Given the description of an element on the screen output the (x, y) to click on. 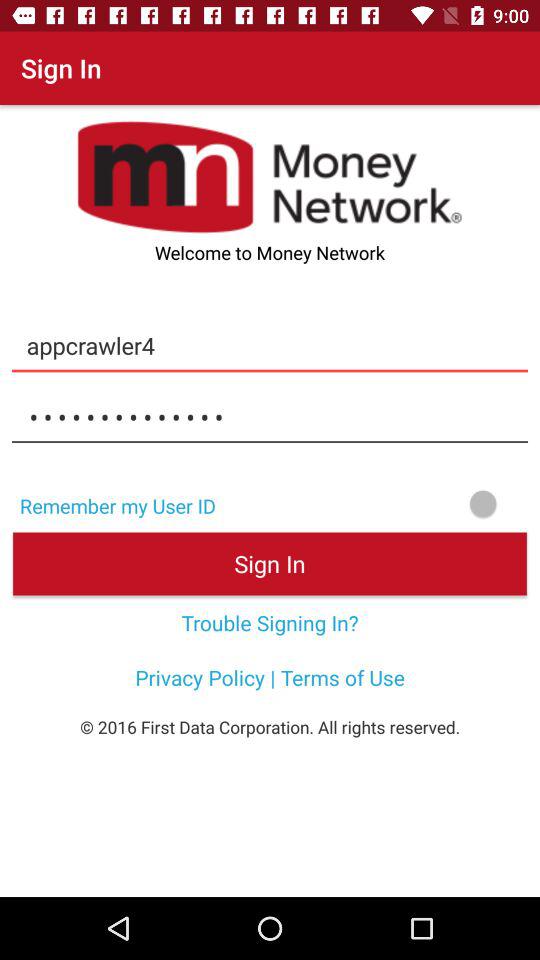
swipe until appcrawler4 item (269, 345)
